Given the description of an element on the screen output the (x, y) to click on. 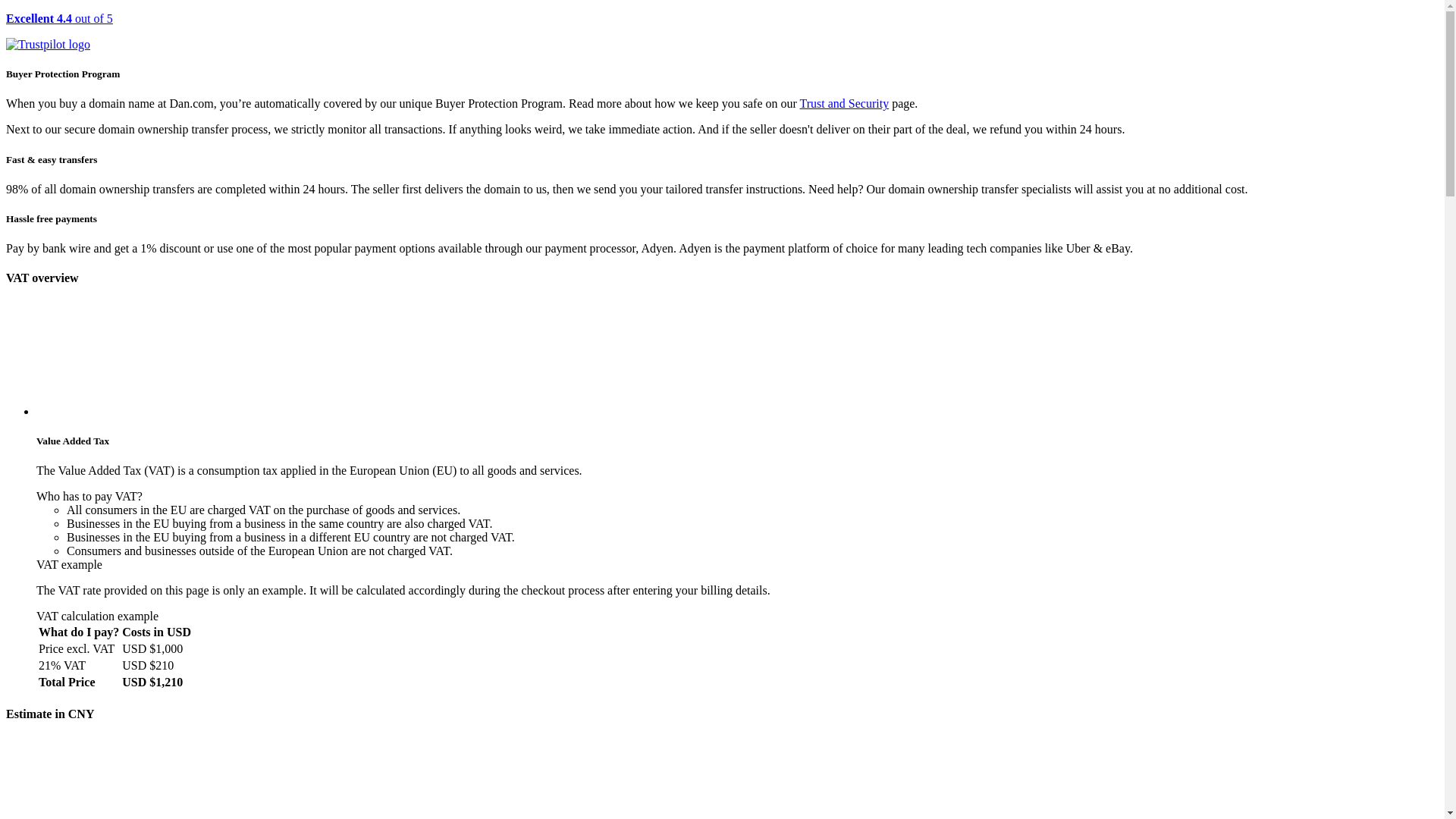
Excellent 4.4 out of 5 Element type: text (722, 31)
Trust and Security Element type: text (844, 103)
